Given the description of an element on the screen output the (x, y) to click on. 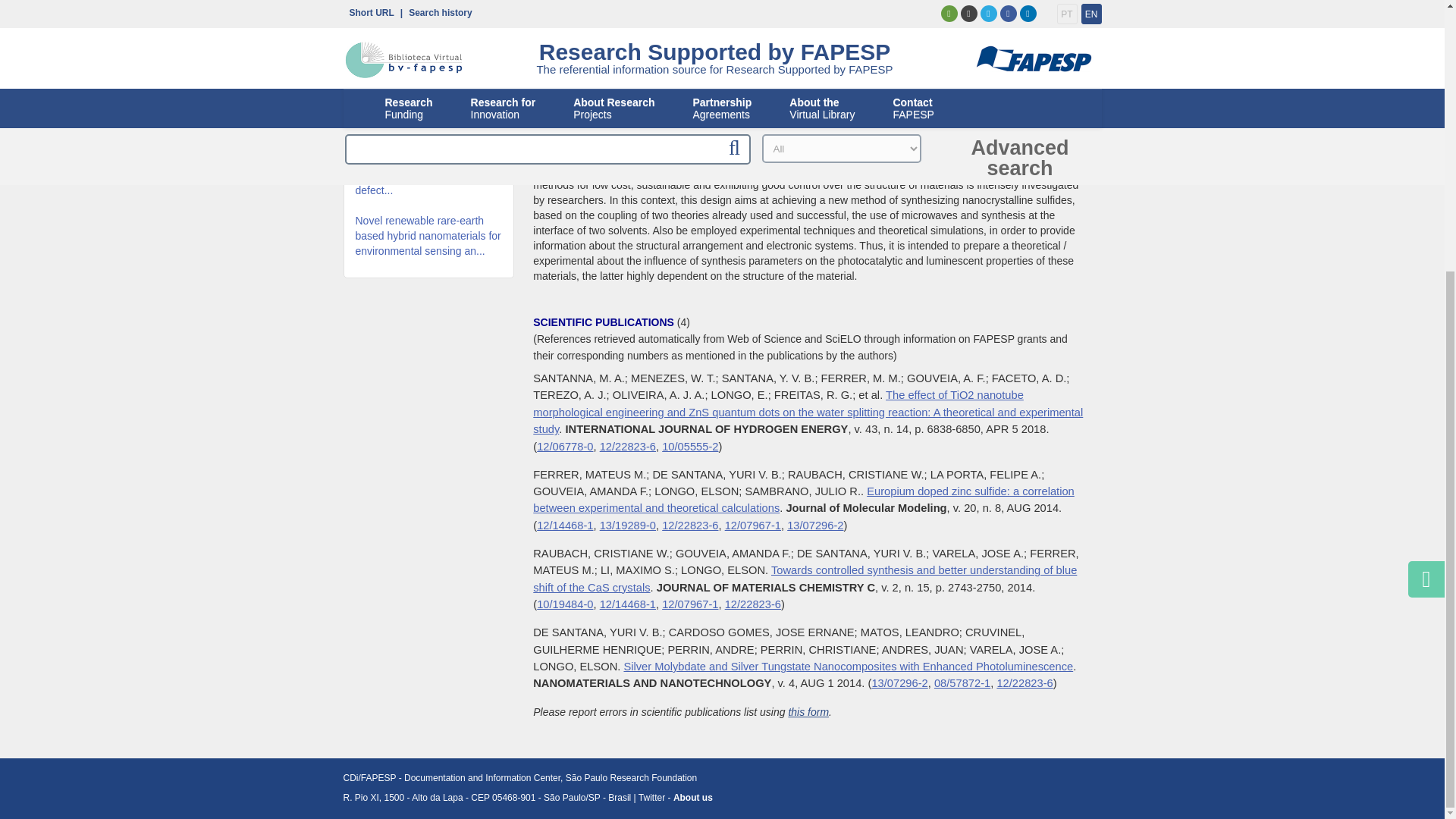
Number of FAPESP process (627, 446)
Number of FAPESP process (564, 525)
Number of FAPESP process (627, 525)
Number of FAPESP process (564, 446)
Number of FAPESP process (627, 604)
Number of FAPESP process (752, 525)
Number of FAPESP process (689, 446)
Number of FAPESP process (689, 525)
Number of FAPESP process (815, 525)
Number of FAPESP process (689, 604)
